Given the description of an element on the screen output the (x, y) to click on. 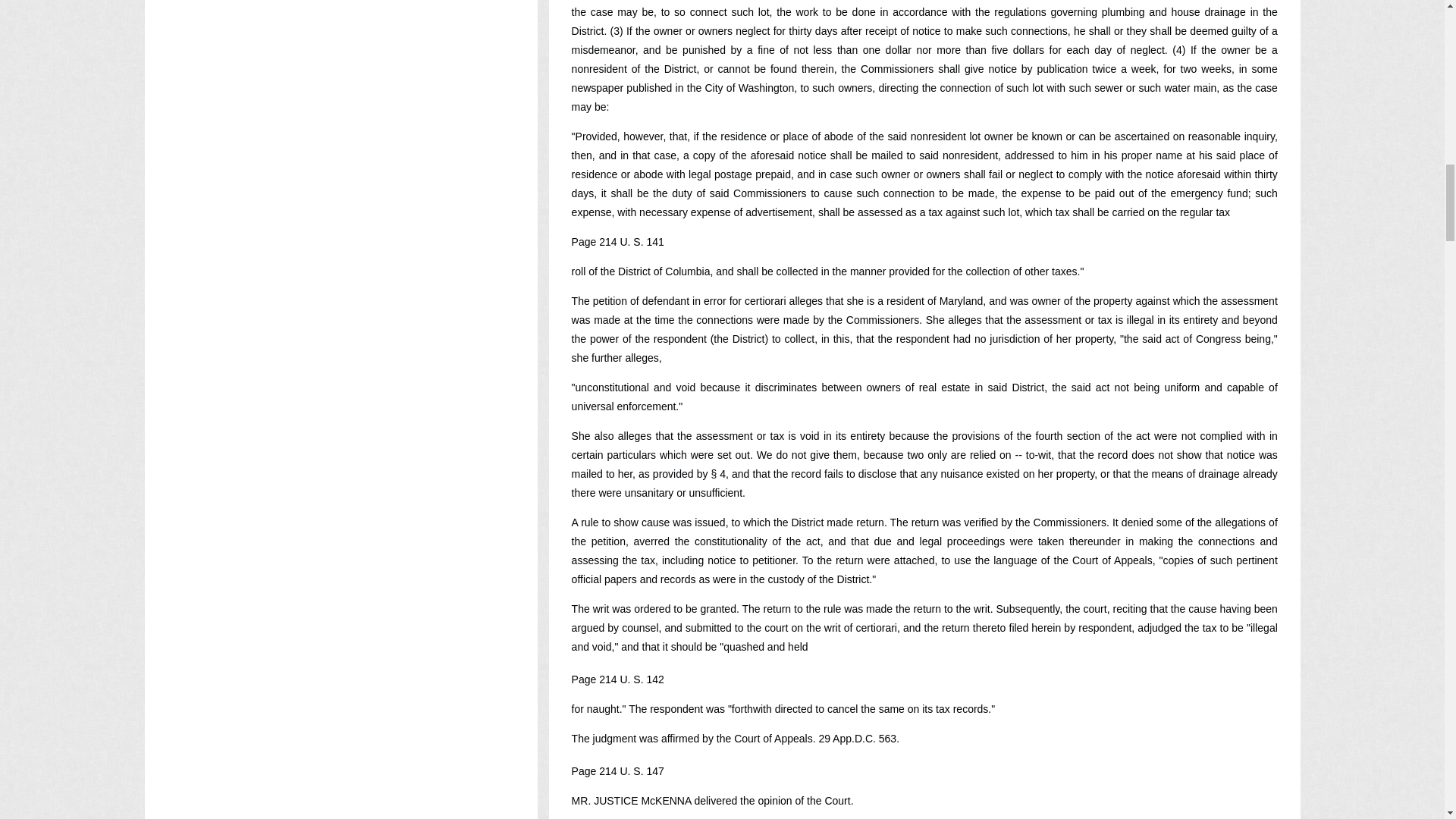
Page 214 U. S. 147 (617, 770)
Page 214 U. S. 141 (617, 241)
Page 214 U. S. 142 (617, 679)
